Given the description of an element on the screen output the (x, y) to click on. 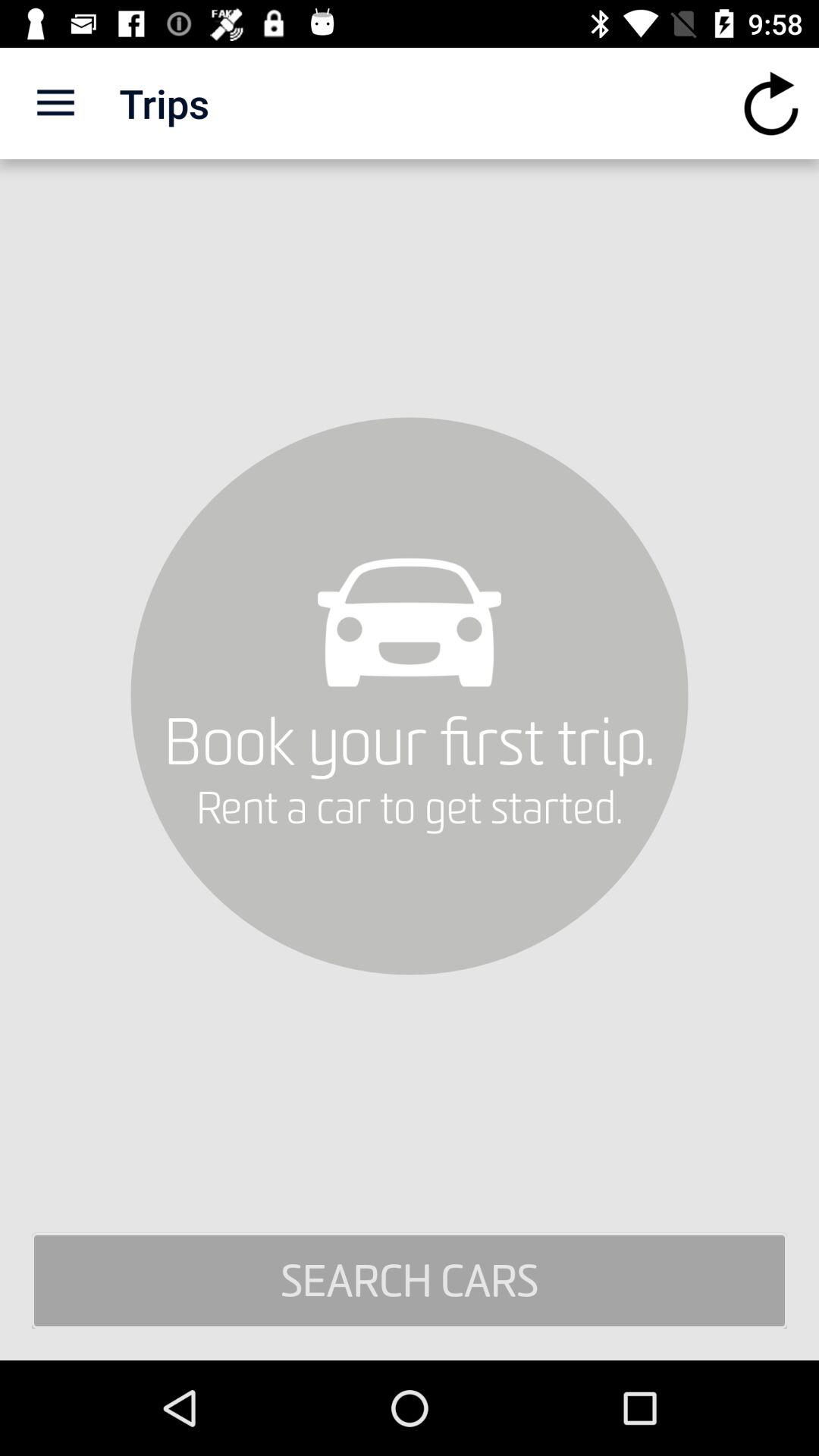
click the icon next to trips icon (771, 103)
